Given the description of an element on the screen output the (x, y) to click on. 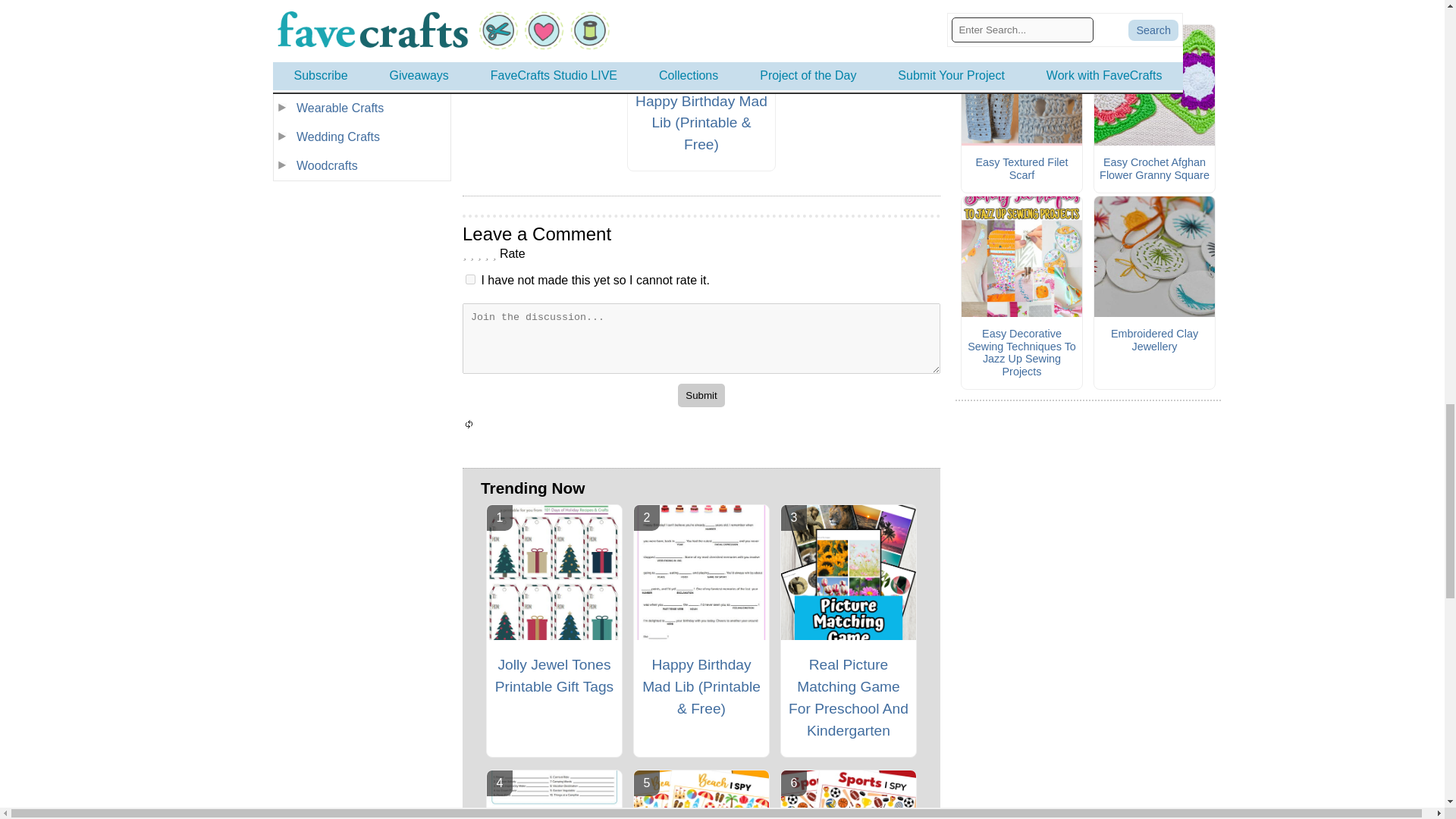
Submit (700, 395)
1 (470, 279)
